Given the description of an element on the screen output the (x, y) to click on. 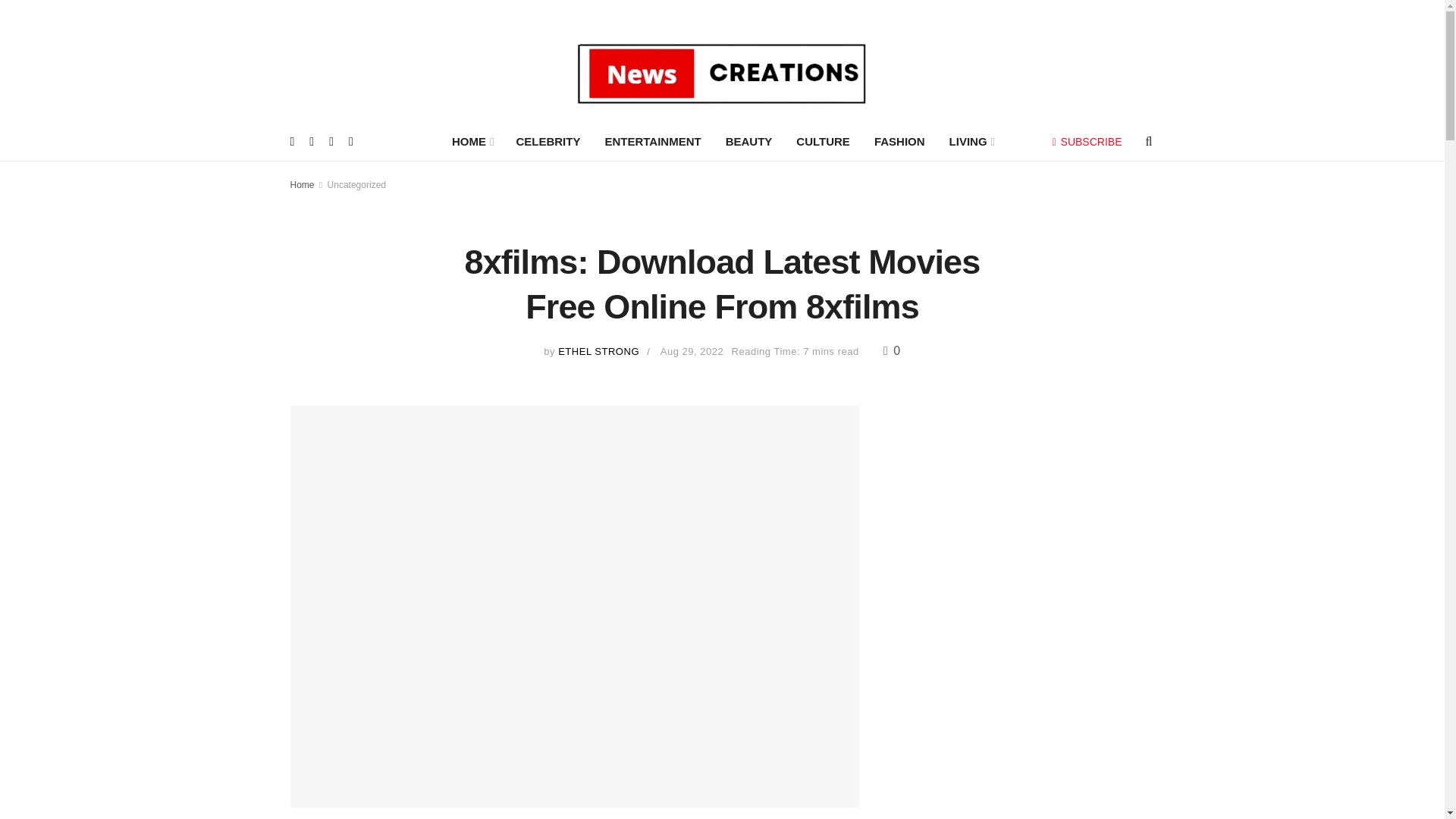
BEAUTY (748, 141)
FASHION (899, 141)
SUBSCRIBE (1087, 141)
ENTERTAINMENT (652, 141)
CULTURE (822, 141)
HOME (471, 141)
LIVING (971, 141)
CELEBRITY (547, 141)
